Given the description of an element on the screen output the (x, y) to click on. 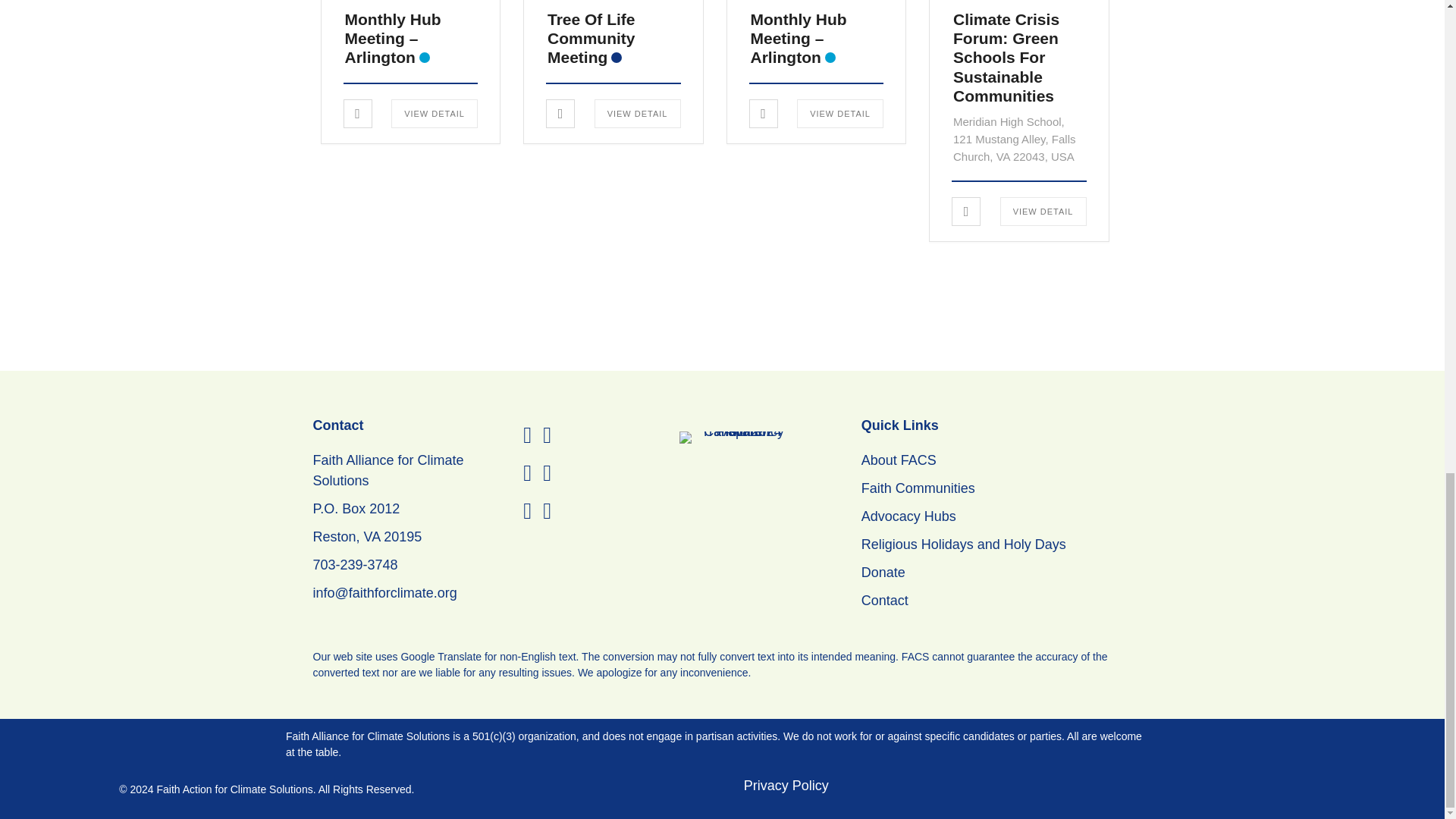
Share (560, 113)
Share (357, 113)
Share (762, 113)
